Given the description of an element on the screen output the (x, y) to click on. 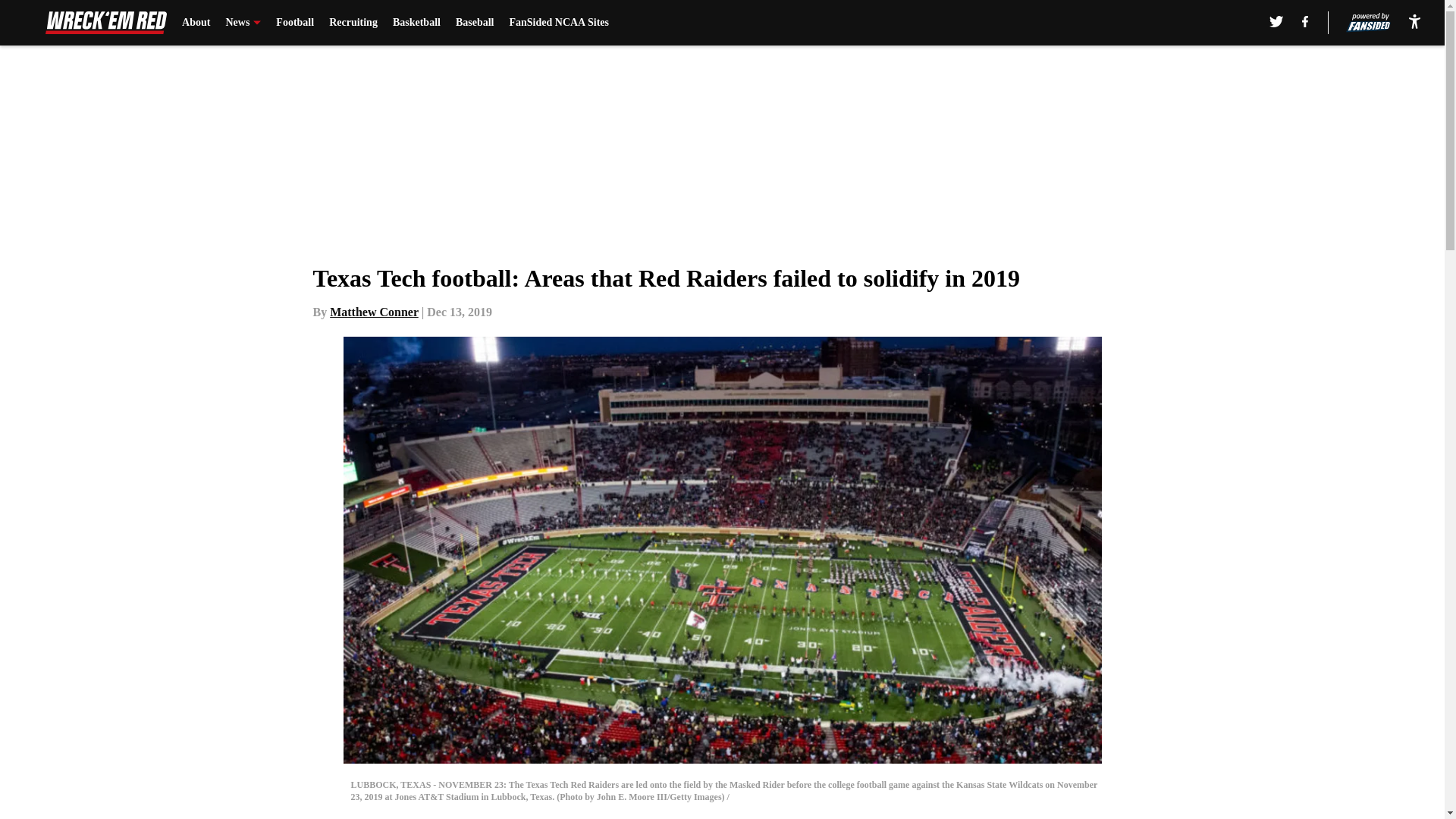
Recruiting (353, 22)
Basketball (417, 22)
Baseball (475, 22)
FanSided NCAA Sites (558, 22)
Matthew Conner (374, 311)
Football (295, 22)
About (195, 22)
